Given the description of an element on the screen output the (x, y) to click on. 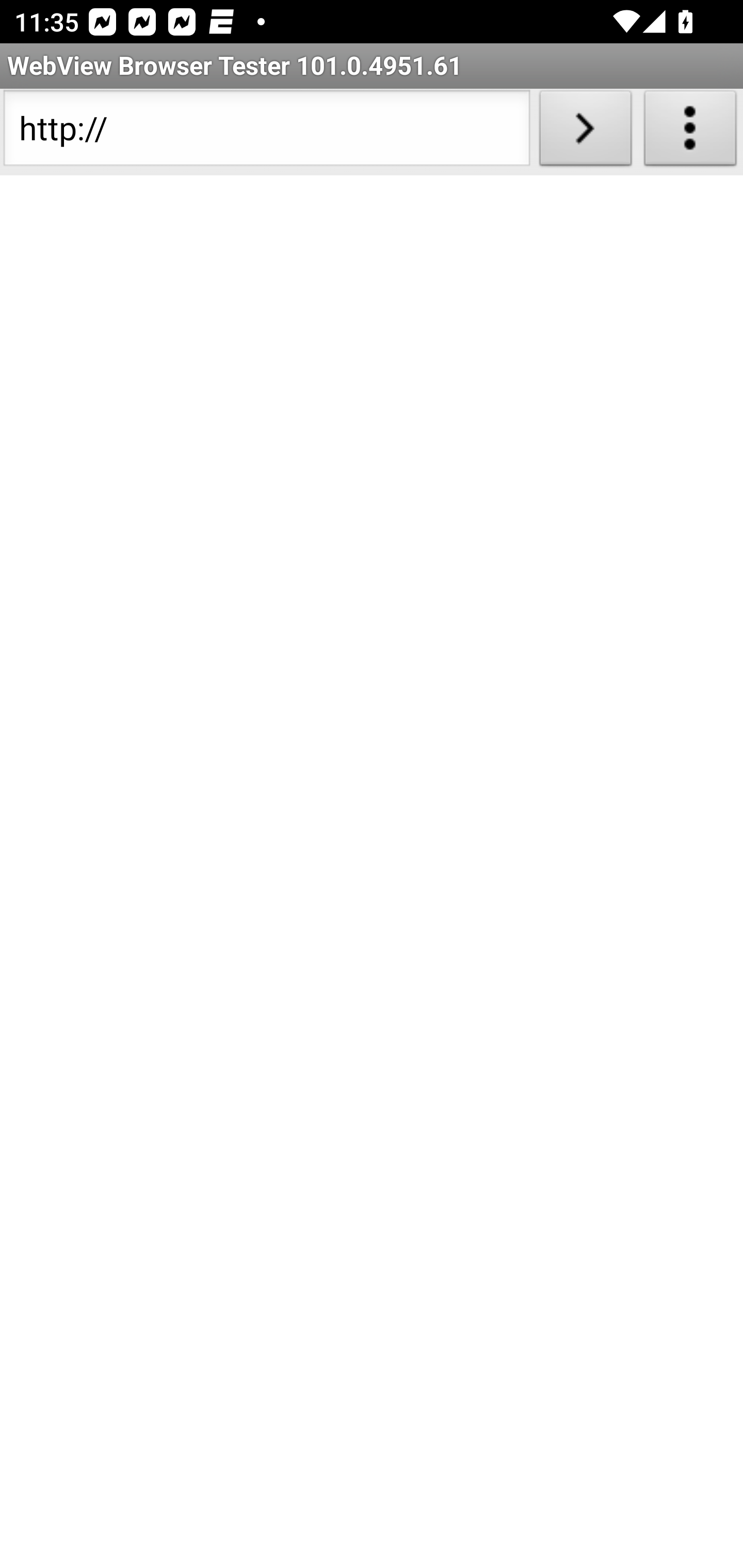
http:// (266, 132)
Load URL (585, 132)
About WebView (690, 132)
